Given the description of an element on the screen output the (x, y) to click on. 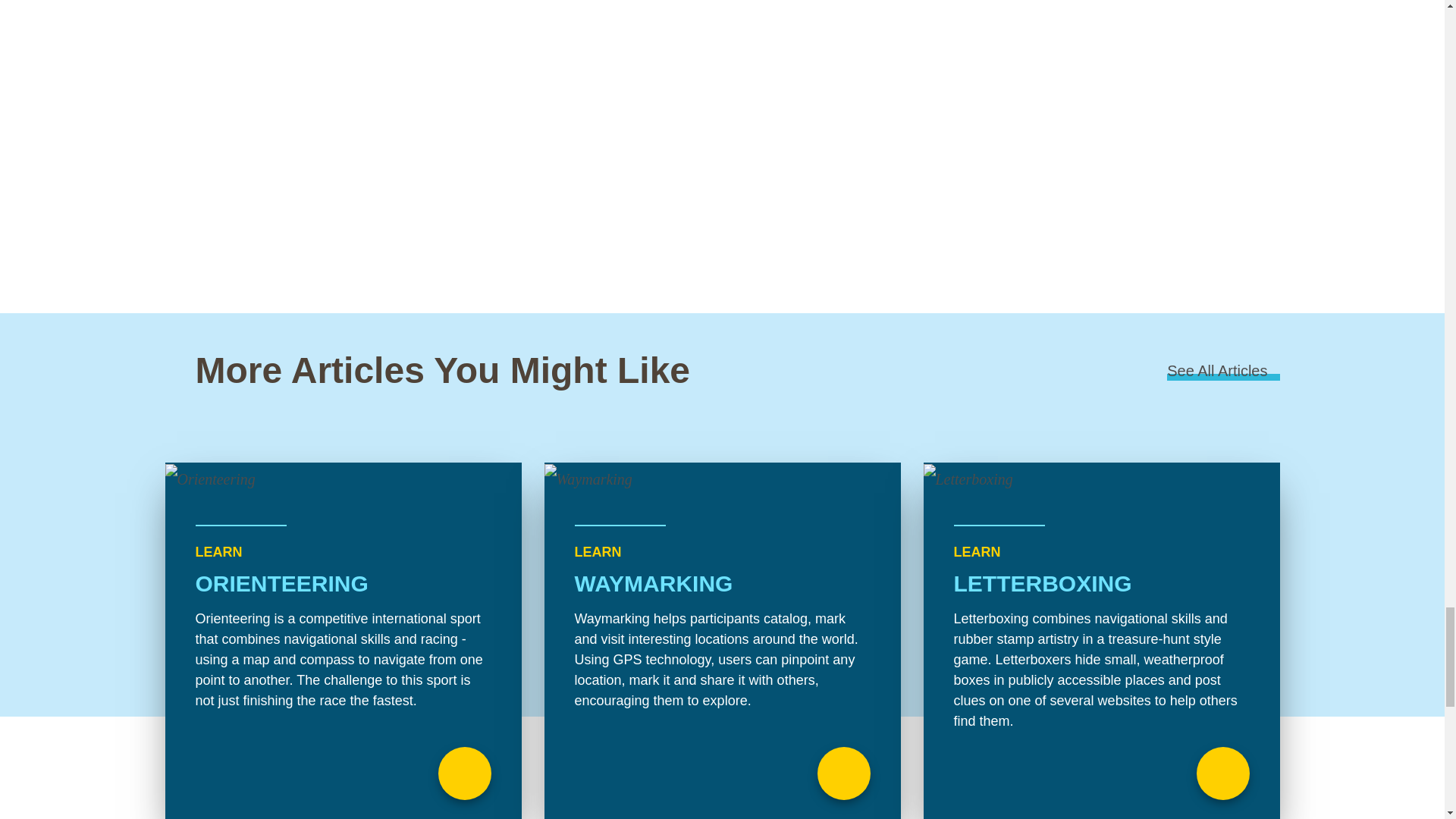
Waymarking (722, 640)
Orienteering (343, 640)
Letterboxing (1101, 640)
